Given the description of an element on the screen output the (x, y) to click on. 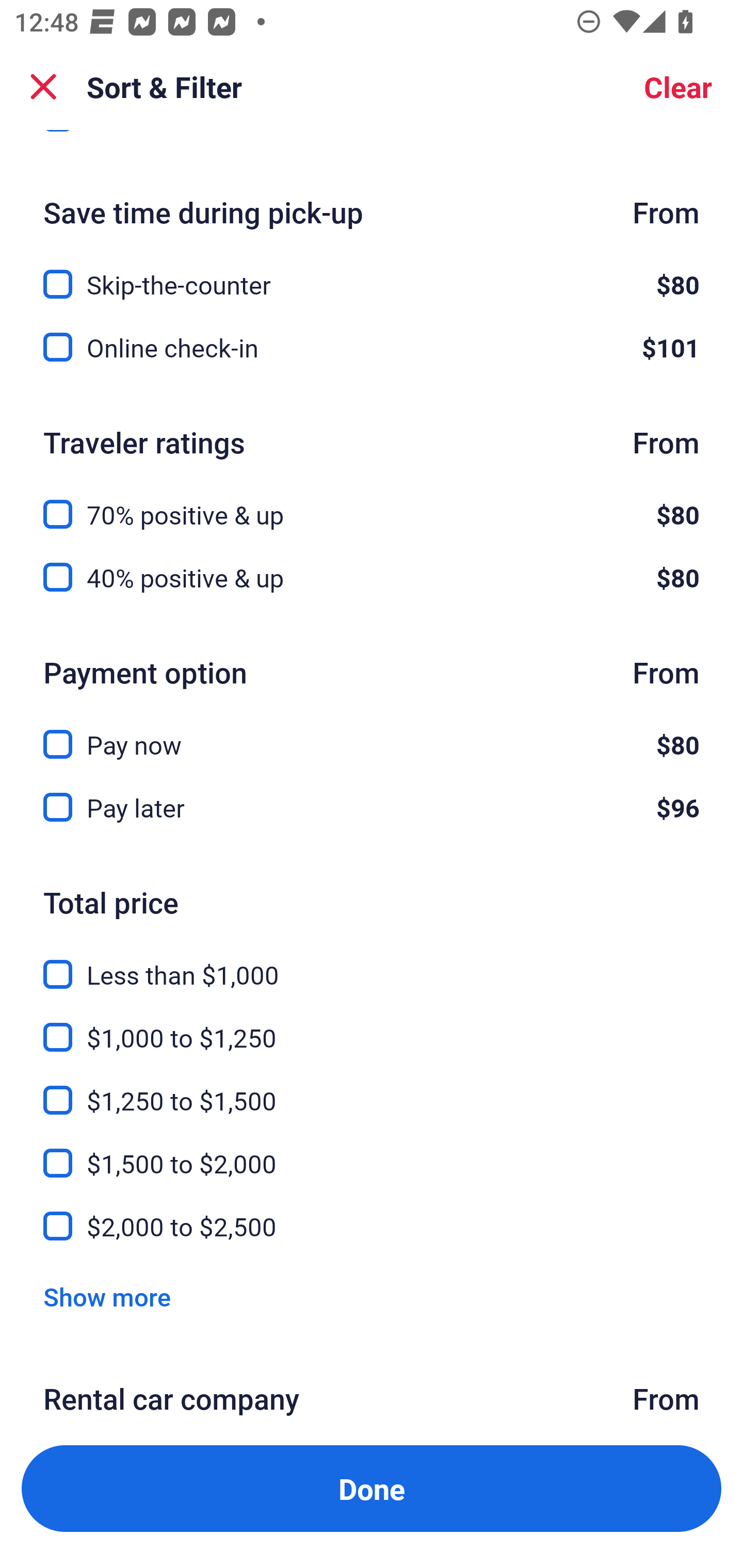
Close Sort and Filter (43, 86)
Clear (677, 86)
Skip-the-counter, $80 Skip-the-counter $80 (371, 272)
Online check-in, $101 Online check-in $101 (371, 347)
70% positive & up, $80 70% positive & up $80 (371, 502)
40% positive & up, $80 40% positive & up $80 (371, 577)
Pay now, $80 Pay now $80 (371, 732)
Pay later, $96 Pay later $96 (371, 808)
Less than $1,000, Less than $1,000 (371, 962)
$1,000 to $1,250, $1,000 to $1,250 (371, 1025)
$1,250 to $1,500, $1,250 to $1,500 (371, 1087)
$1,500 to $2,000, $1,500 to $2,000 (371, 1151)
$2,000 to $2,500, $2,000 to $2,500 (371, 1226)
Show more Show more Link (106, 1296)
Apply and close Sort and Filter Done (371, 1488)
